Given the description of an element on the screen output the (x, y) to click on. 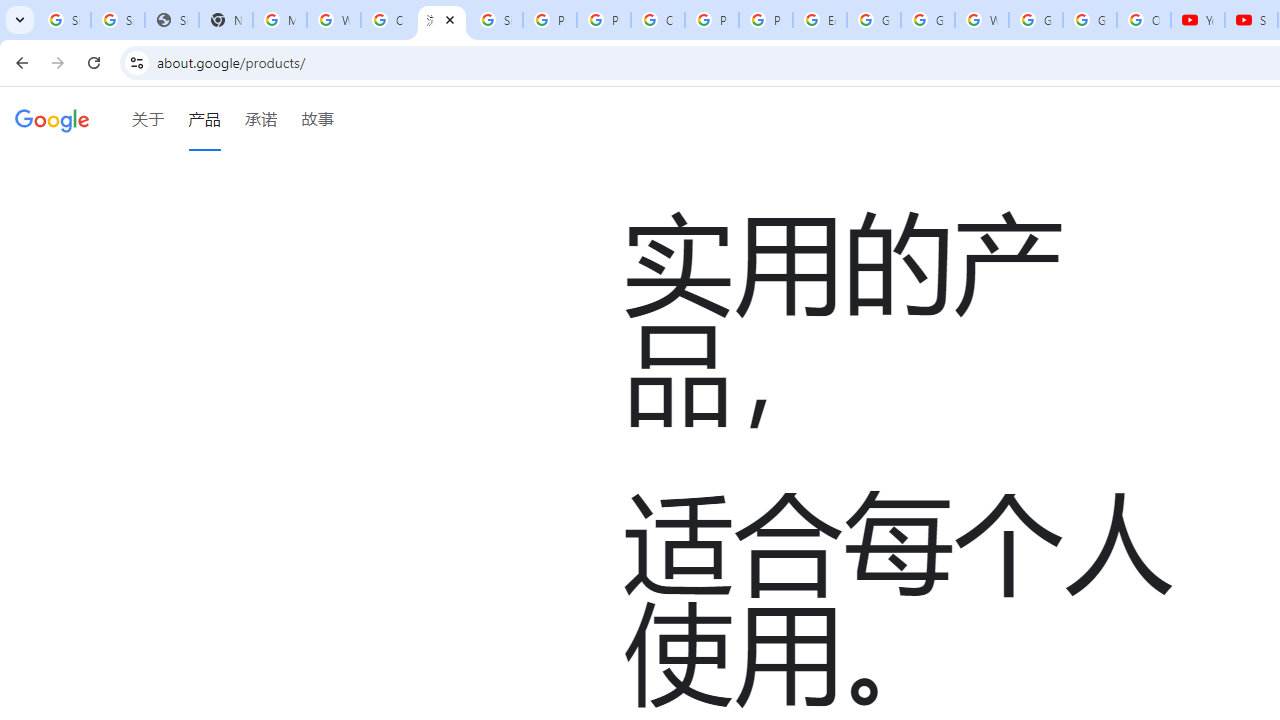
Sign In - USA TODAY (171, 20)
Google Slides: Sign-in (874, 20)
Welcome to My Activity (981, 20)
Sign in - Google Accounts (117, 20)
New Tab (225, 20)
